Given the description of an element on the screen output the (x, y) to click on. 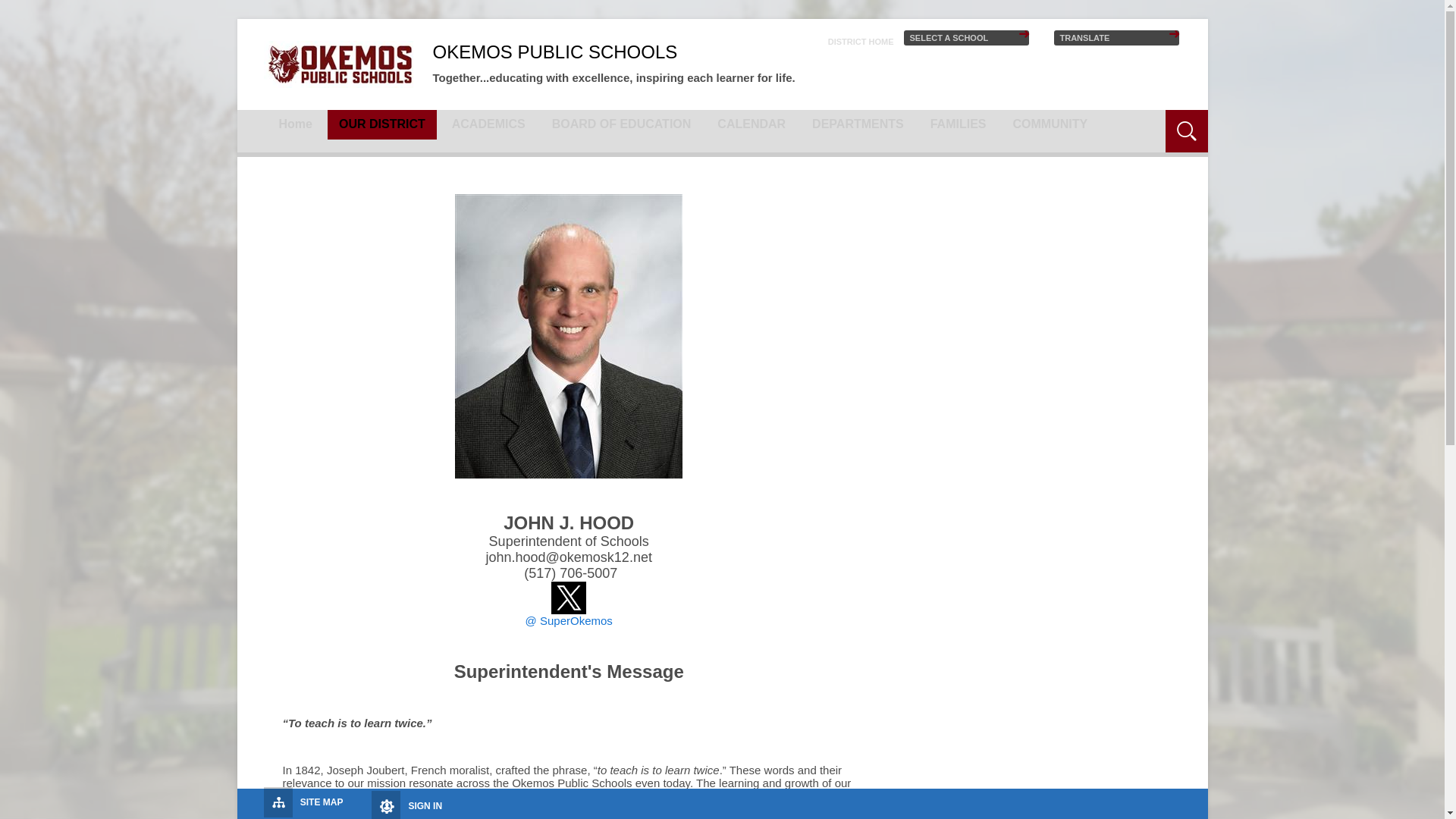
Okemos Public Schools (338, 63)
Return to the homepage on the district site. (860, 41)
Search this site (1123, 120)
DISTRICT HOME (860, 41)
Search Term (1123, 120)
